Given the description of an element on the screen output the (x, y) to click on. 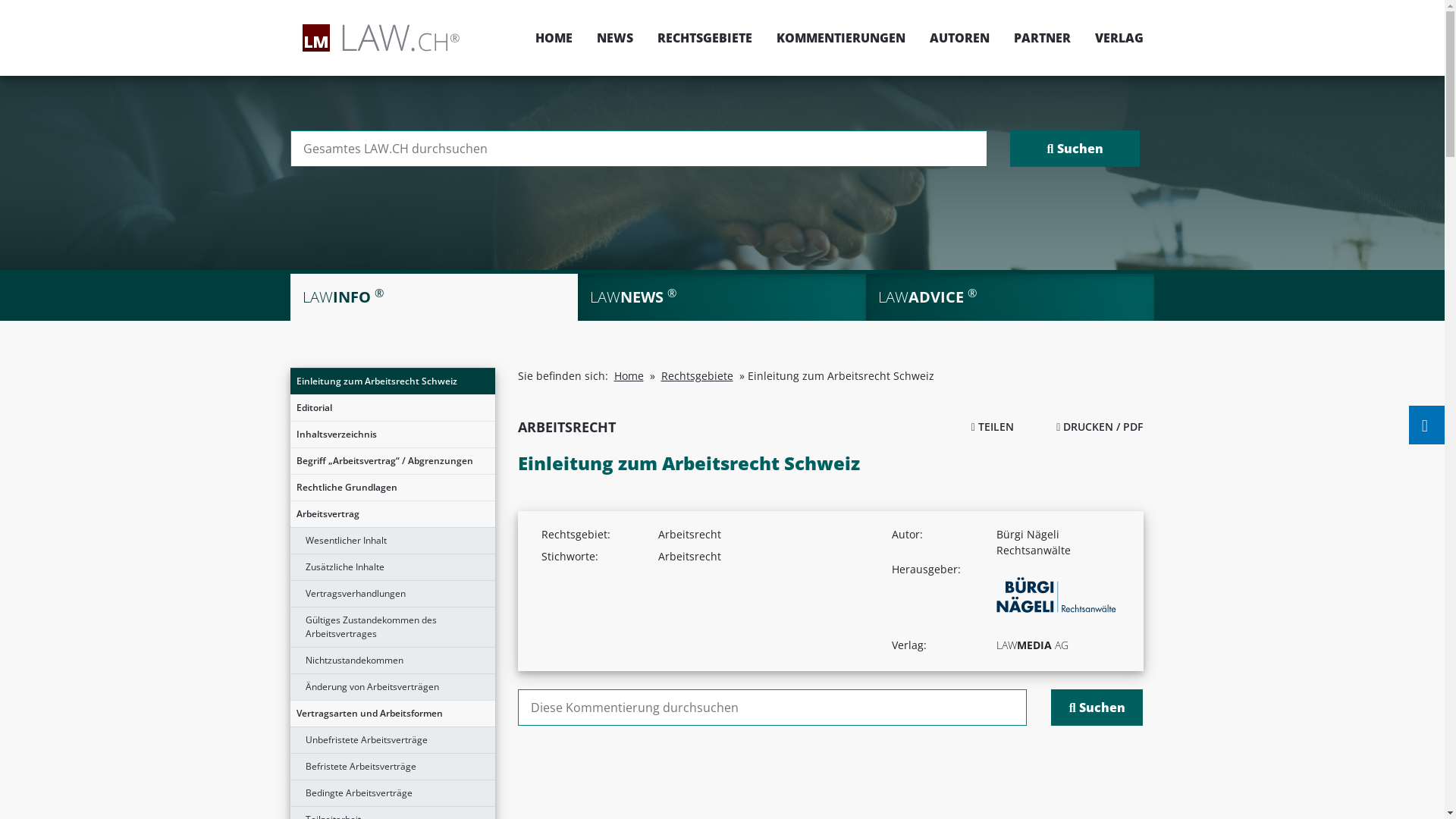
Vertragsverhandlungen Element type: text (391, 593)
Rechtsgebiete Element type: text (697, 375)
Suchen nach: Element type: hover (771, 707)
Vertragsarten und Arbeitsformen Element type: text (391, 713)
Rechtliche Grundlagen Element type: text (391, 487)
Editorial Element type: text (391, 407)
Arbeitsvertrag Element type: text (391, 514)
Inhaltsverzeichnis Element type: text (391, 434)
Nichtzustandekommen Element type: text (391, 660)
NEWS Element type: text (613, 37)
Einleitung zum Arbeitsrecht Schweiz Element type: text (391, 381)
KOMMENTIERUNGEN Element type: text (840, 37)
AUTOREN Element type: text (959, 37)
RECHTSGEBIETE Element type: text (703, 37)
 TEILEN Element type: text (992, 426)
Home Element type: text (628, 375)
Suchen nach: Element type: hover (637, 148)
VERLAG Element type: text (1112, 37)
Wesentlicher Inhalt Element type: text (391, 540)
PARTNER Element type: text (1041, 37)
HOME Element type: text (553, 37)
 DRUCKEN / PDF Element type: text (1099, 426)
